Given the description of an element on the screen output the (x, y) to click on. 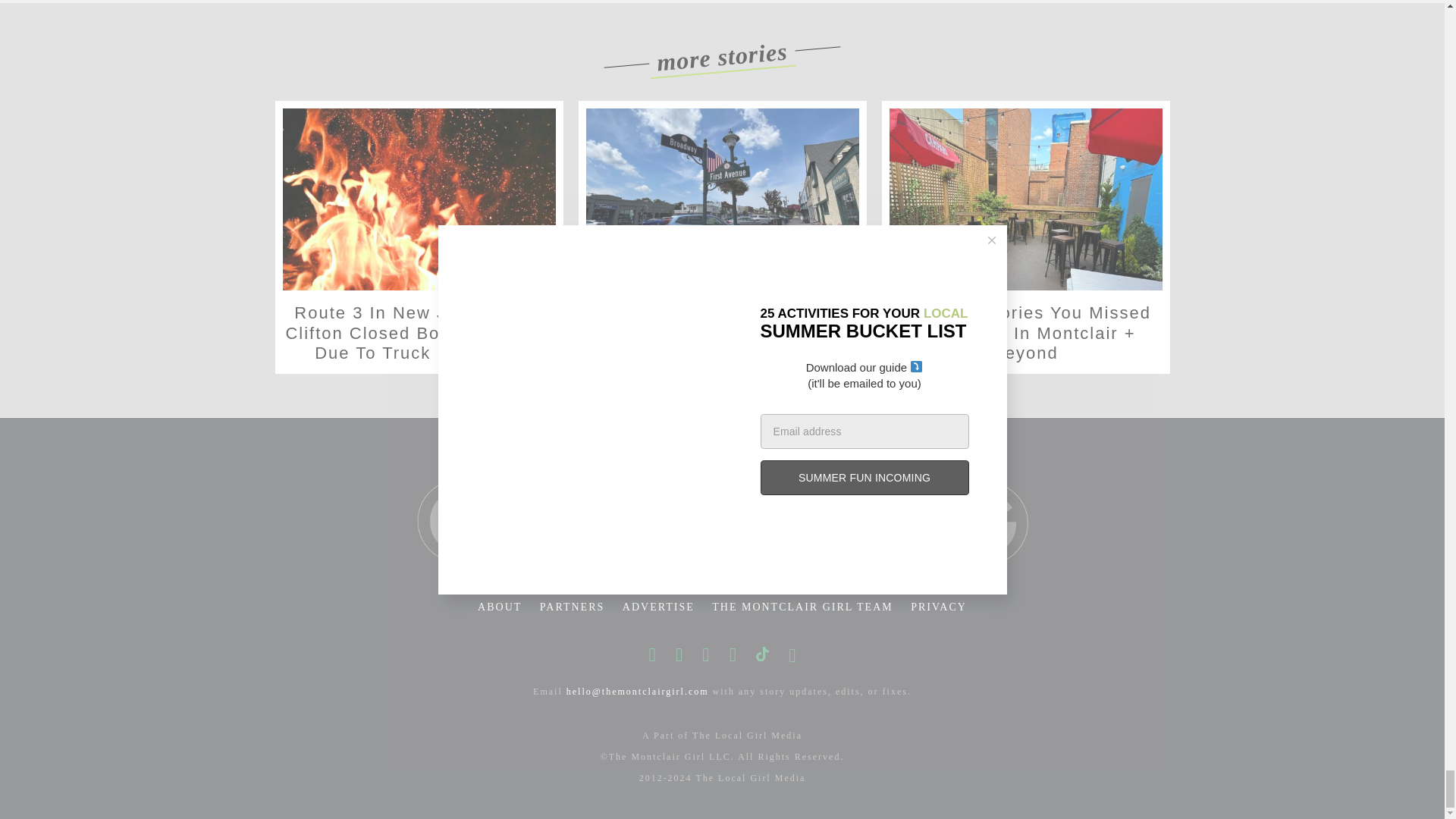
A Day Trip Guide to Denville, New Jersey (722, 199)
